Given the description of an element on the screen output the (x, y) to click on. 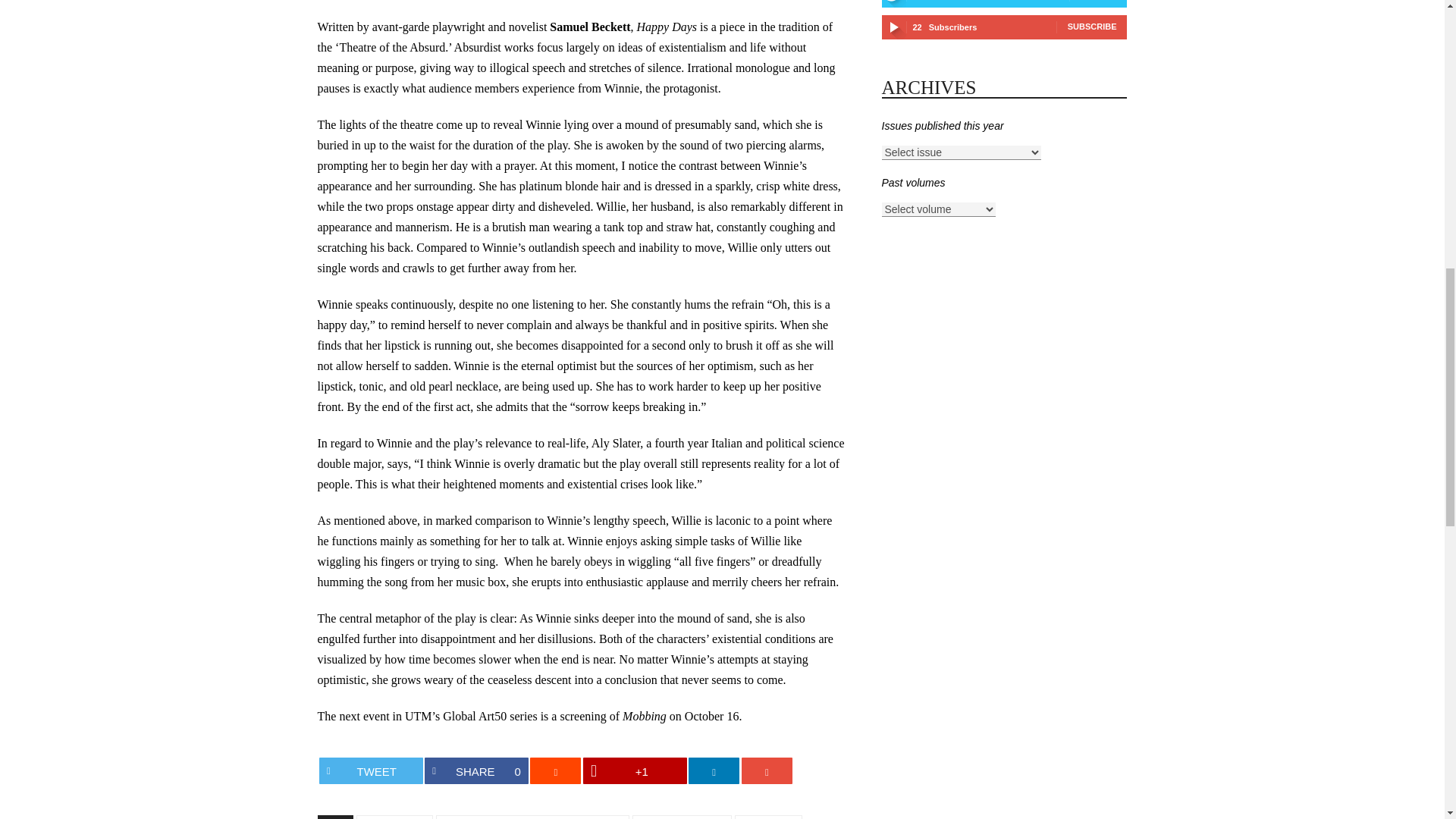
TWEET (370, 770)
